Given the description of an element on the screen output the (x, y) to click on. 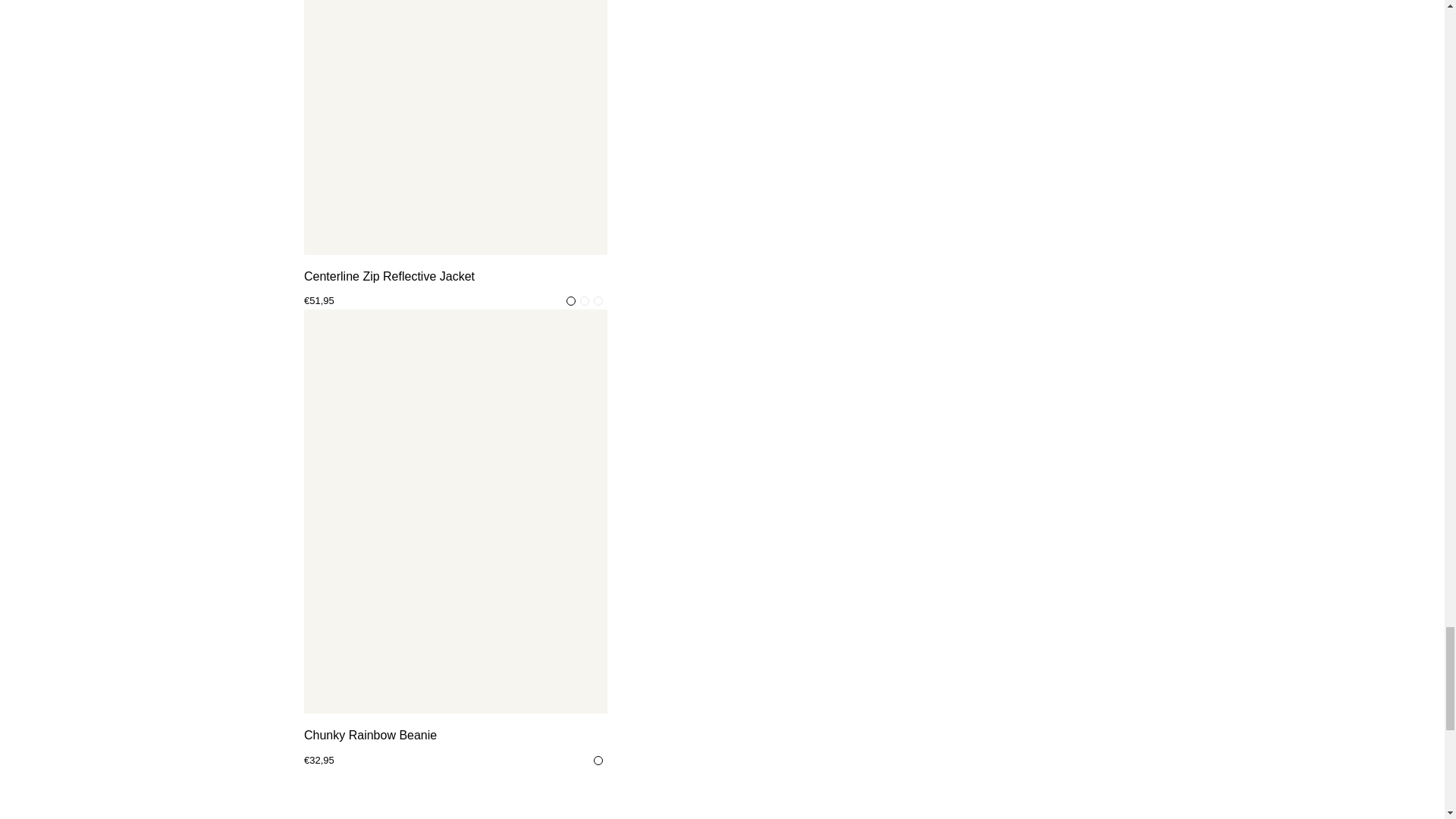
Centerline Zip Reflective Jacket (454, 276)
Centerline Zip Reflective Jacket (454, 127)
